Given the description of an element on the screen output the (x, y) to click on. 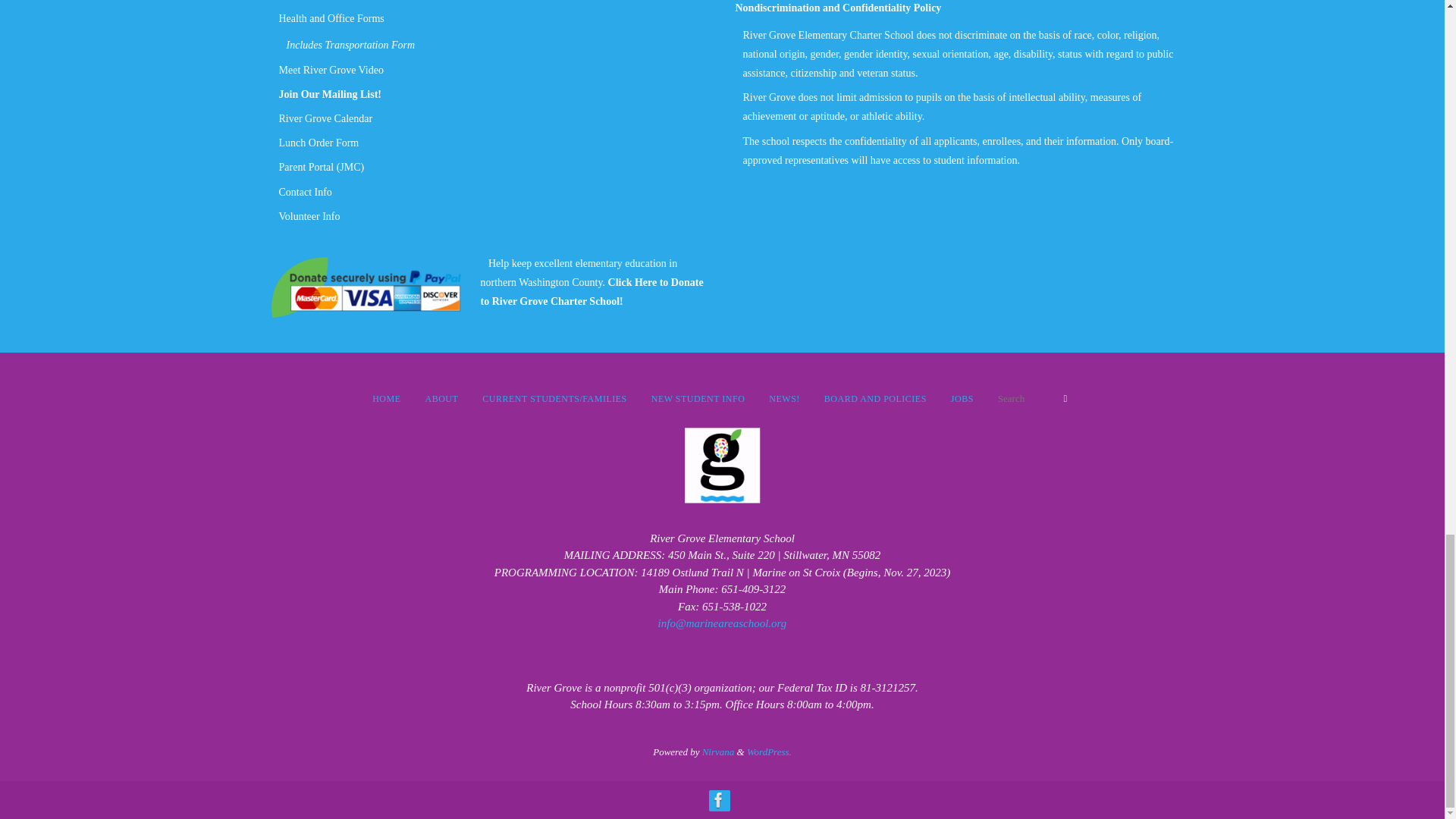
Facebook (717, 799)
Semantic Personal Publishing Platform (769, 751)
Nirvana Theme by Cryout Creations (718, 751)
